Given the description of an element on the screen output the (x, y) to click on. 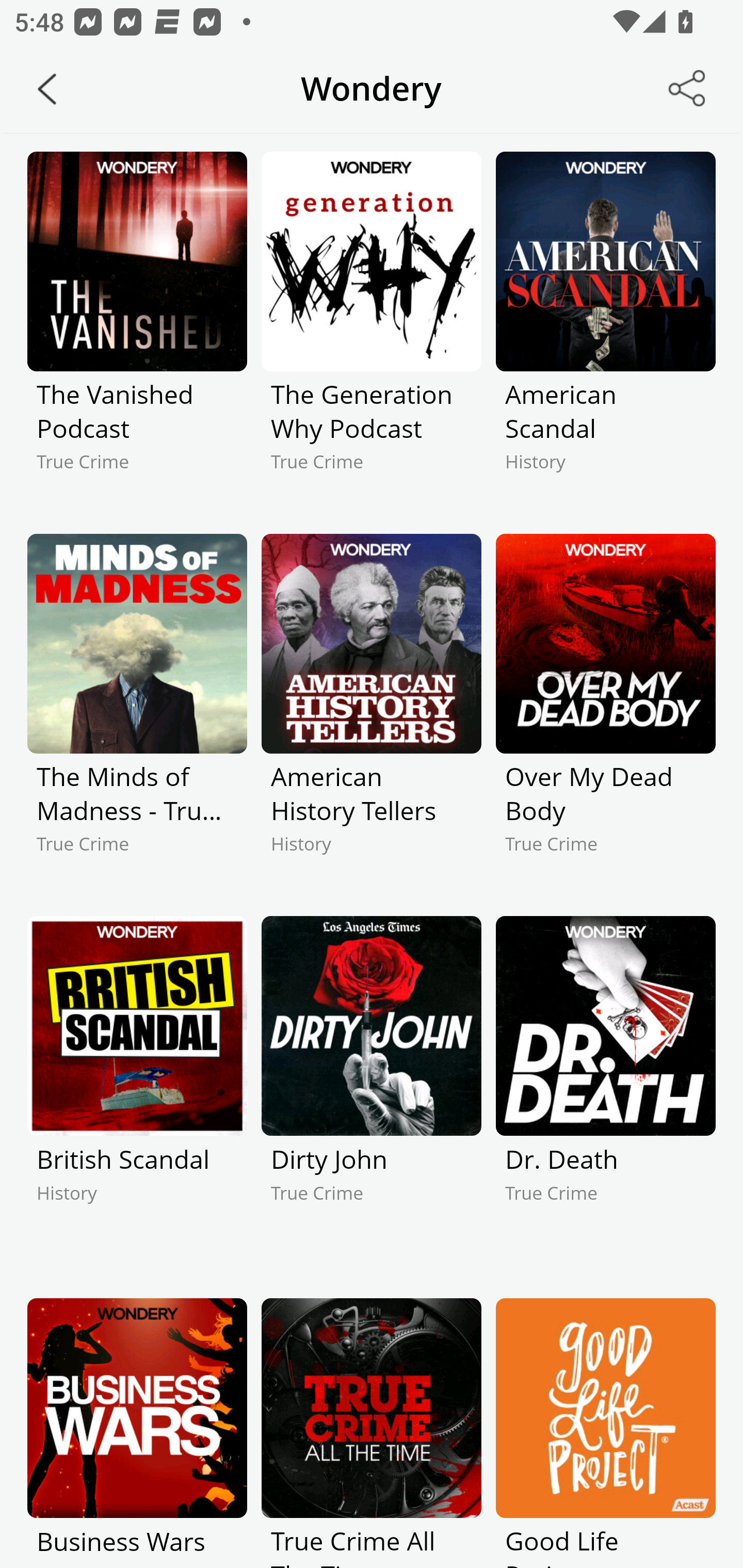
Back (46, 88)
The Vanished Podcast True Crime (137, 329)
The Generation Why Podcast True Crime (371, 329)
American Scandal History (605, 329)
American History Tellers History (371, 711)
Over My Dead Body True Crime (605, 711)
British Scandal History (137, 1093)
Dirty John True Crime (371, 1093)
Dr. Death True Crime (605, 1093)
Business Wars Management (137, 1433)
True Crime All The Time (371, 1433)
Good Life Project (605, 1433)
